Given the description of an element on the screen output the (x, y) to click on. 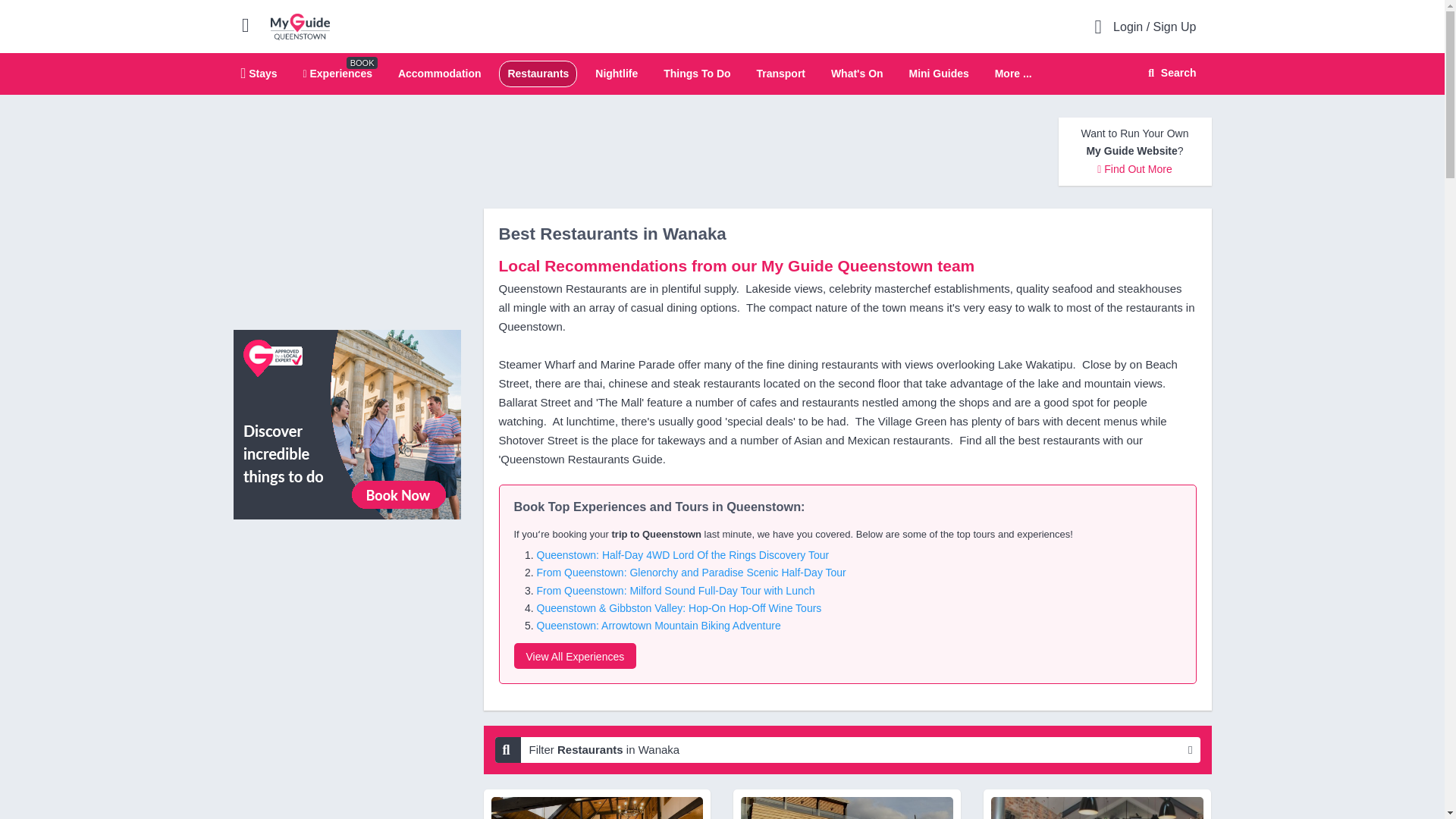
Transport (780, 73)
Things To Do (696, 73)
3rd party ad content (346, 212)
More ... (1013, 73)
Stays (259, 73)
Restaurants (537, 73)
GetYourGuide Widget (346, 599)
Accommodation (439, 73)
View All Experiences (575, 655)
Search (1169, 72)
My Guide Queenstown (300, 25)
What's On (857, 73)
Experiences (337, 73)
View All Experiences (346, 423)
